Given the description of an element on the screen output the (x, y) to click on. 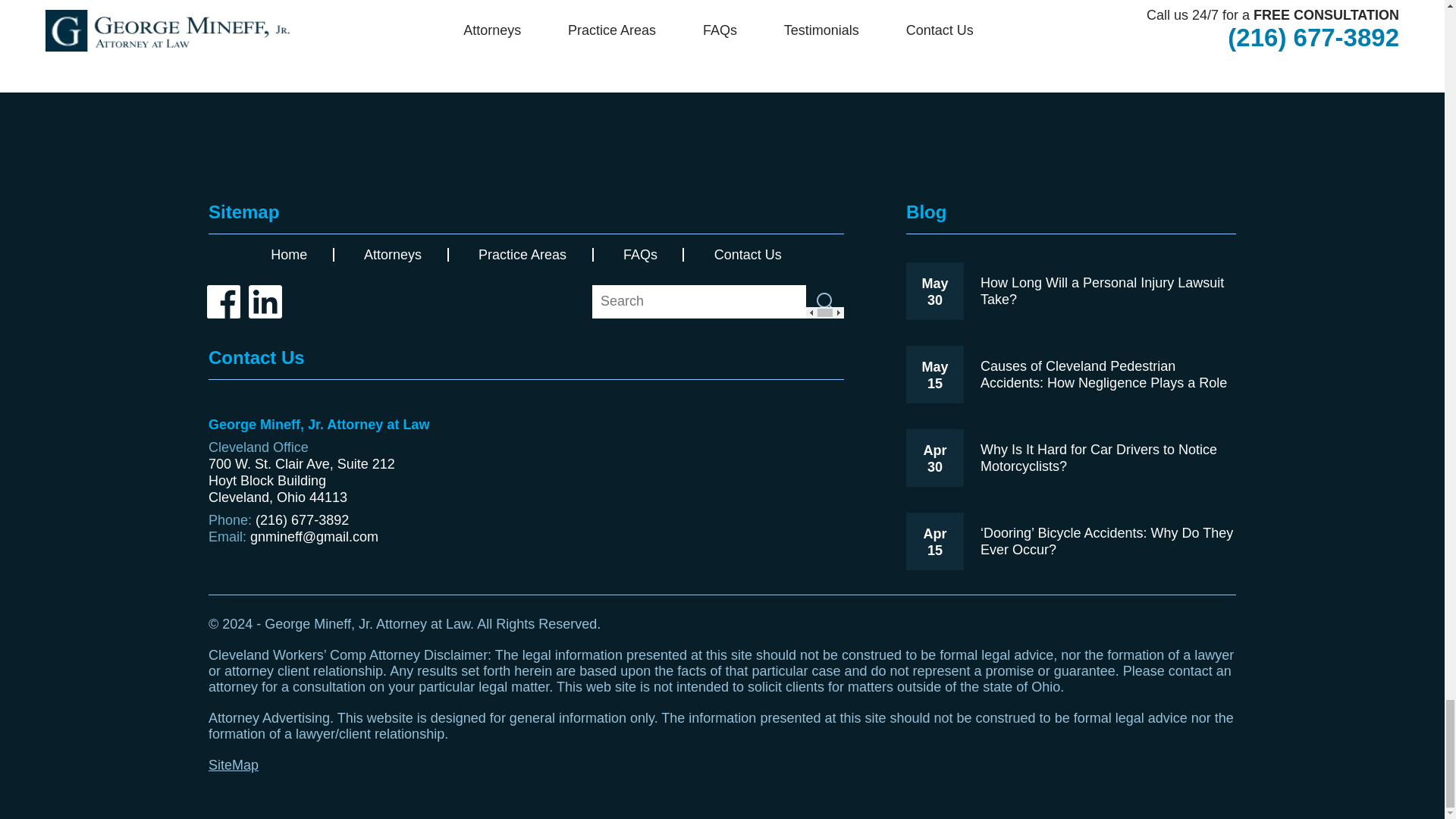
Submit (825, 301)
Submit (825, 301)
